Given the description of an element on the screen output the (x, y) to click on. 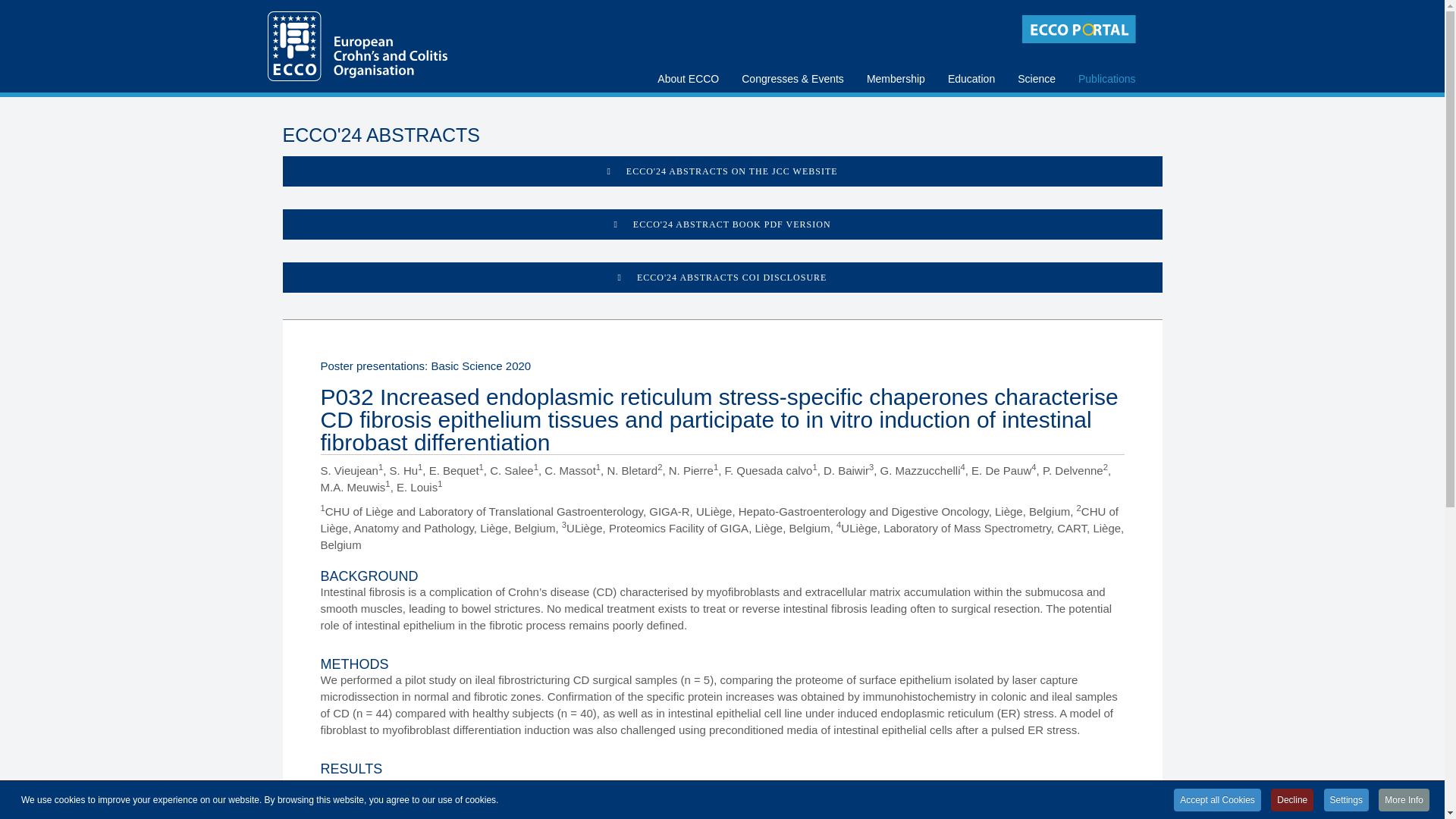
About ECCO (688, 54)
Membership (896, 54)
Education (971, 54)
